Given the description of an element on the screen output the (x, y) to click on. 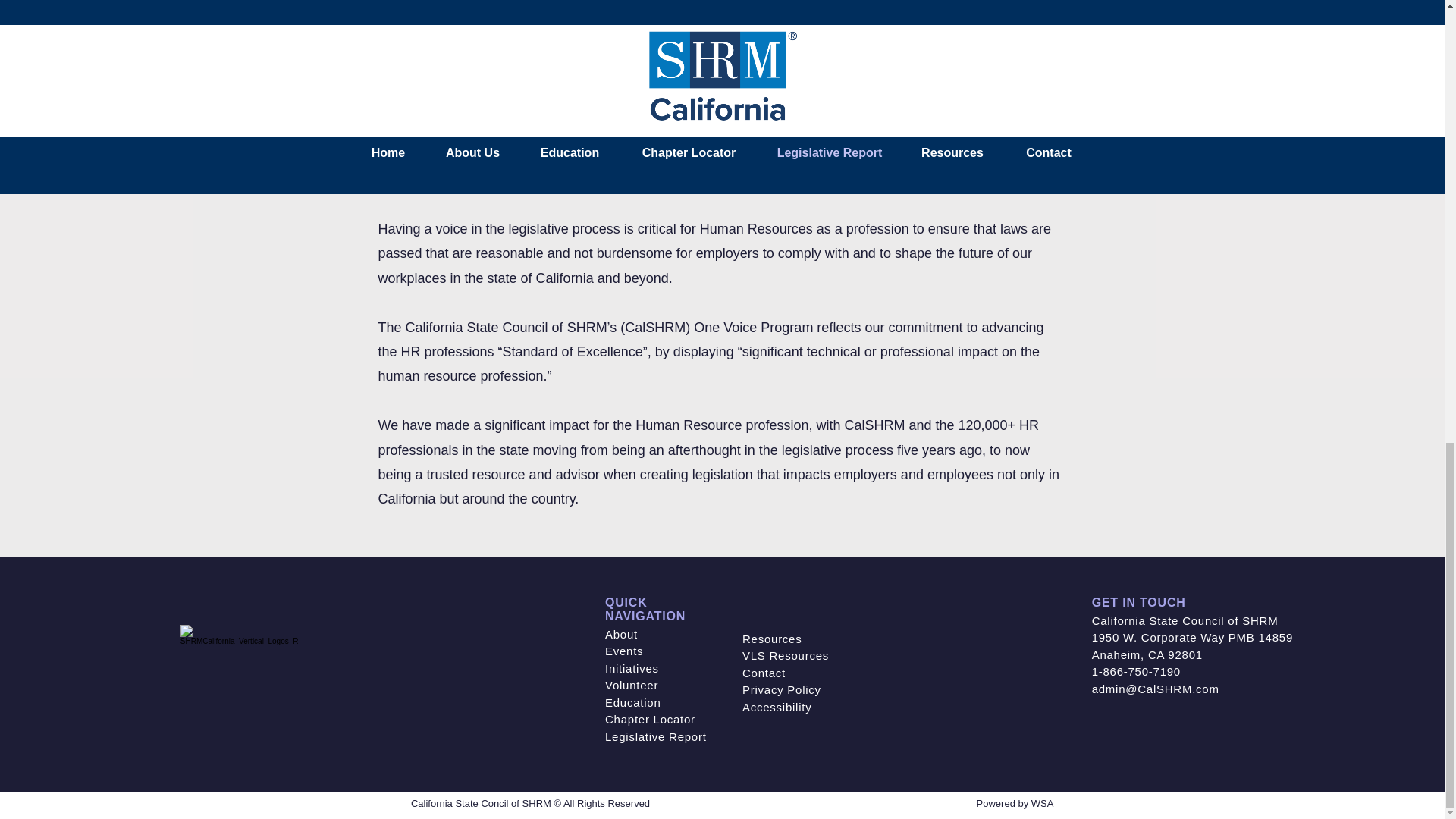
Accessibility (776, 707)
Volunteer (631, 684)
Legislative Report (655, 736)
Resources (772, 638)
Contact (764, 672)
Powered by WSA (1015, 803)
About (621, 634)
1-866-750-7190 (1136, 671)
Events (624, 650)
Education (633, 702)
VLS Resources (785, 655)
Chapter Locator (650, 718)
Privacy Policy (781, 689)
Initiatives (632, 667)
Subscribe (1128, 20)
